Given the description of an element on the screen output the (x, y) to click on. 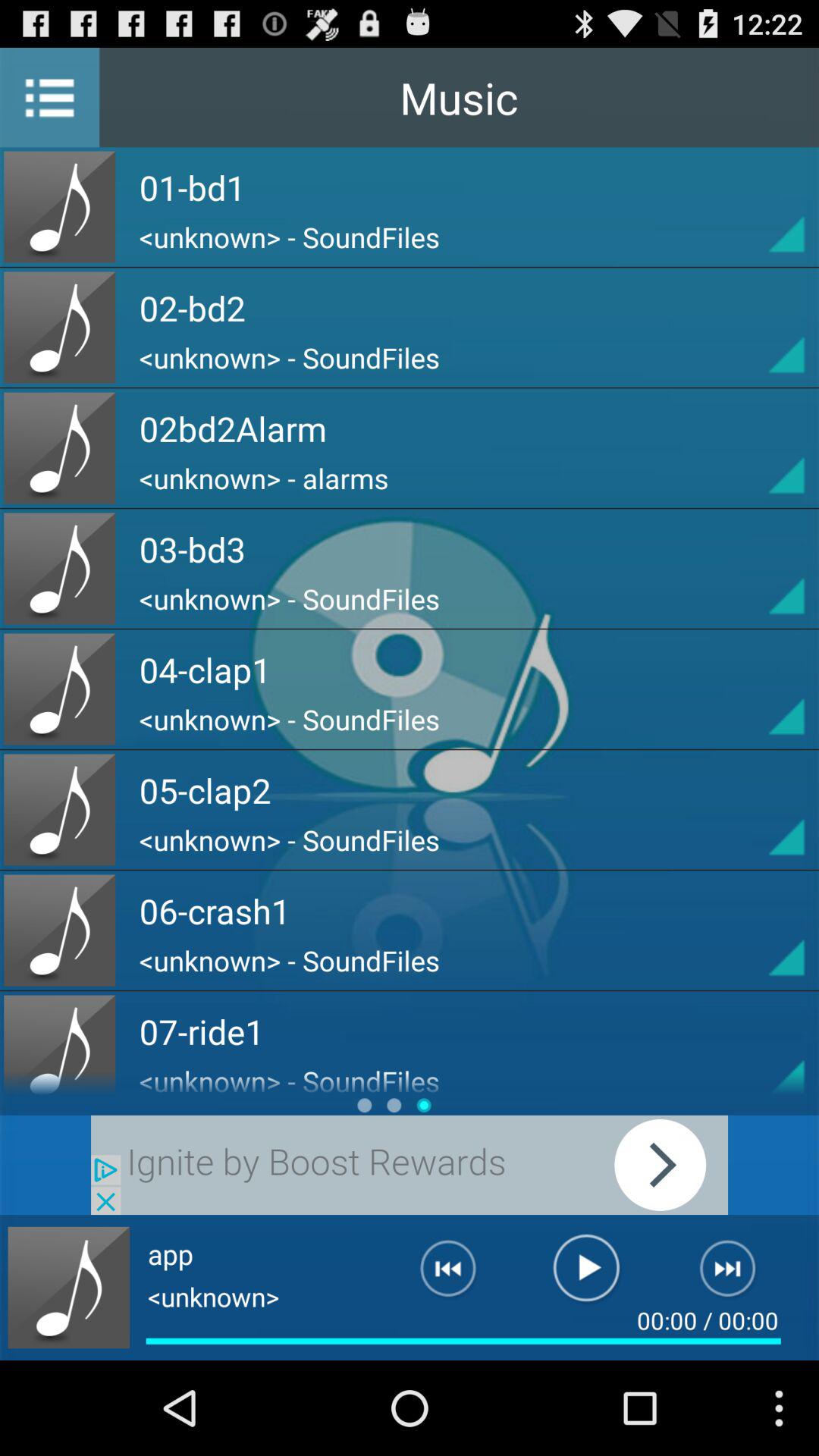
go to details about the song (759, 206)
